Given the description of an element on the screen output the (x, y) to click on. 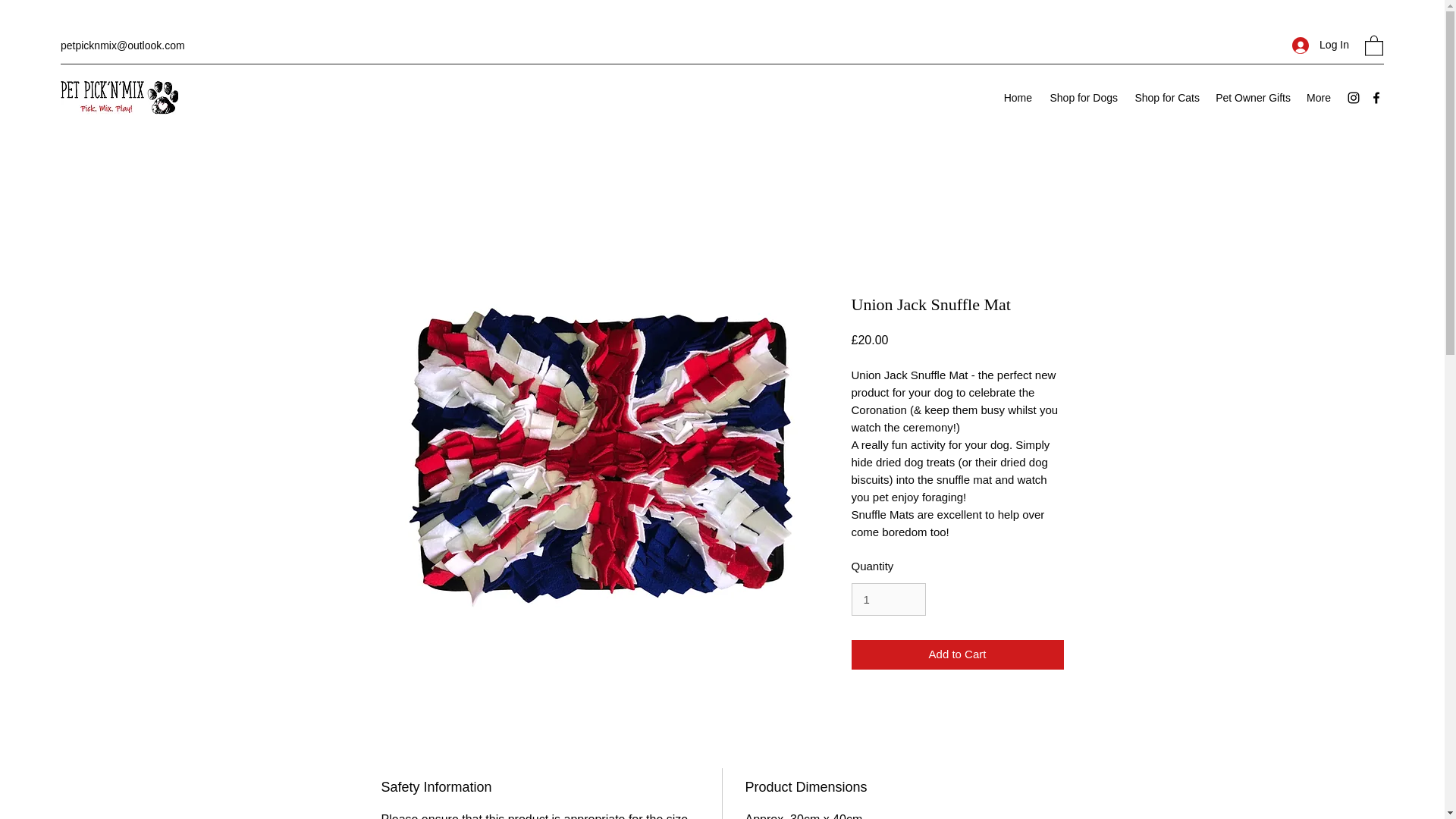
Home (1017, 97)
Pet Owner Gifts (1252, 97)
Log In (1320, 44)
Shop for Cats (1166, 97)
Add to Cart (956, 654)
Shop for Dogs (1082, 97)
1 (887, 599)
